Given the description of an element on the screen output the (x, y) to click on. 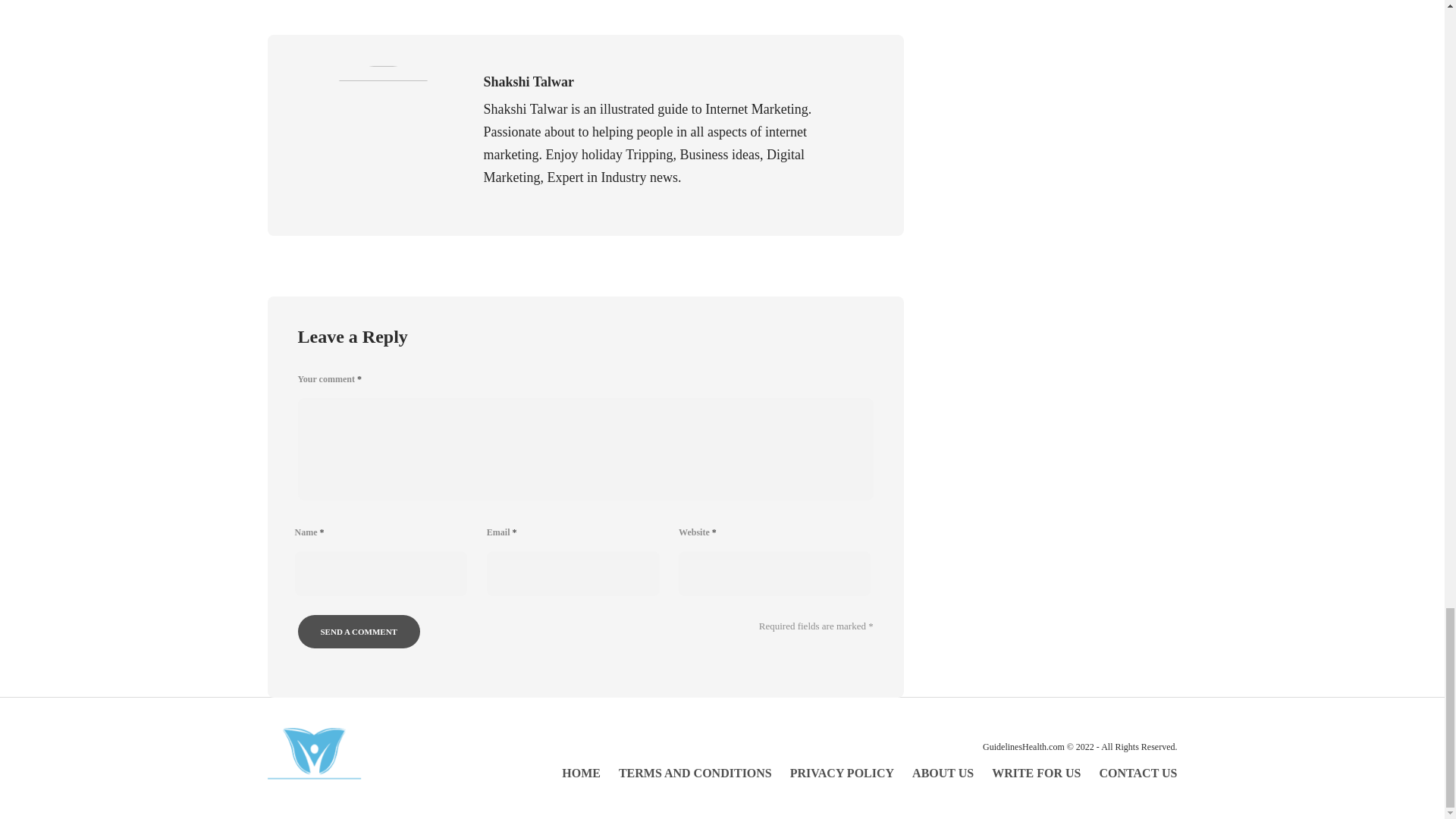
Send a comment (358, 631)
